Given the description of an element on the screen output the (x, y) to click on. 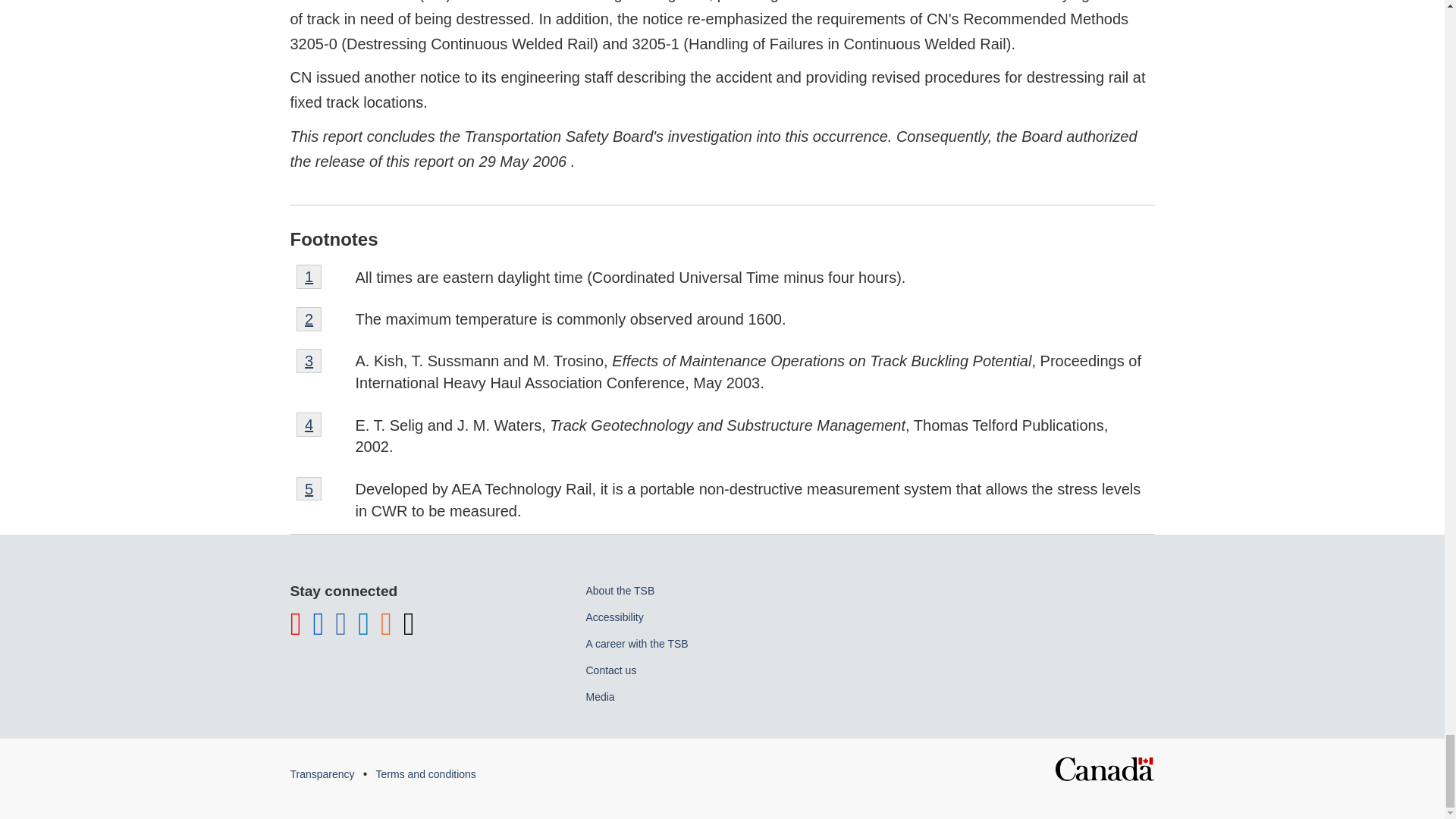
TSB Canada RSS (385, 630)
TSB Canada Flickr (318, 630)
Link to the Government of Canada website (1104, 764)
TSB Canada Facebook (340, 630)
TSB Canada Youtube (309, 276)
TSB Canada LinkedIn (295, 630)
